Given the description of an element on the screen output the (x, y) to click on. 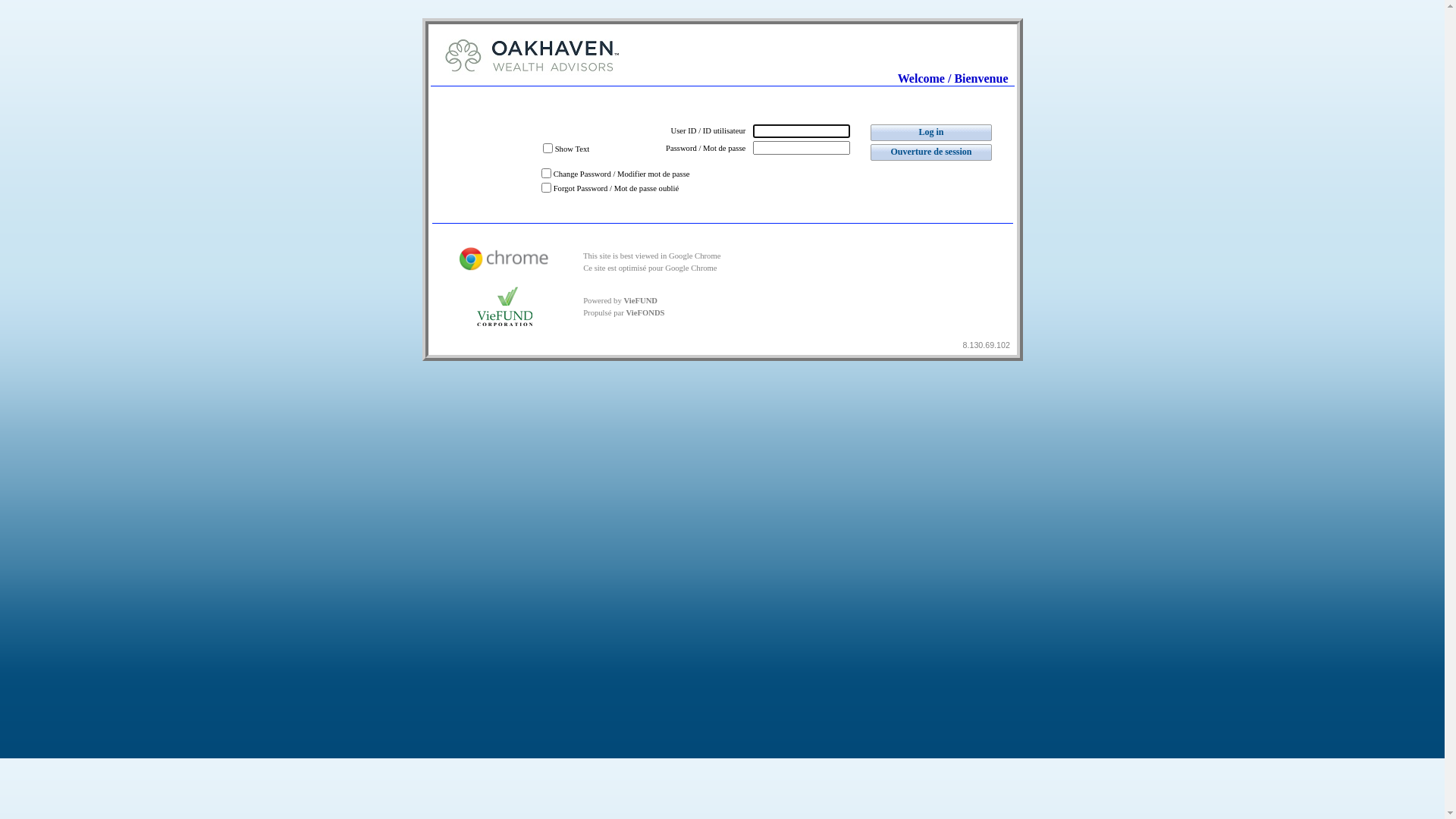
on Element type: text (547, 147)
on Element type: text (546, 173)
on Element type: text (546, 186)
Ouverture de session Element type: text (930, 152)
Log in Element type: text (930, 132)
